Given the description of an element on the screen output the (x, y) to click on. 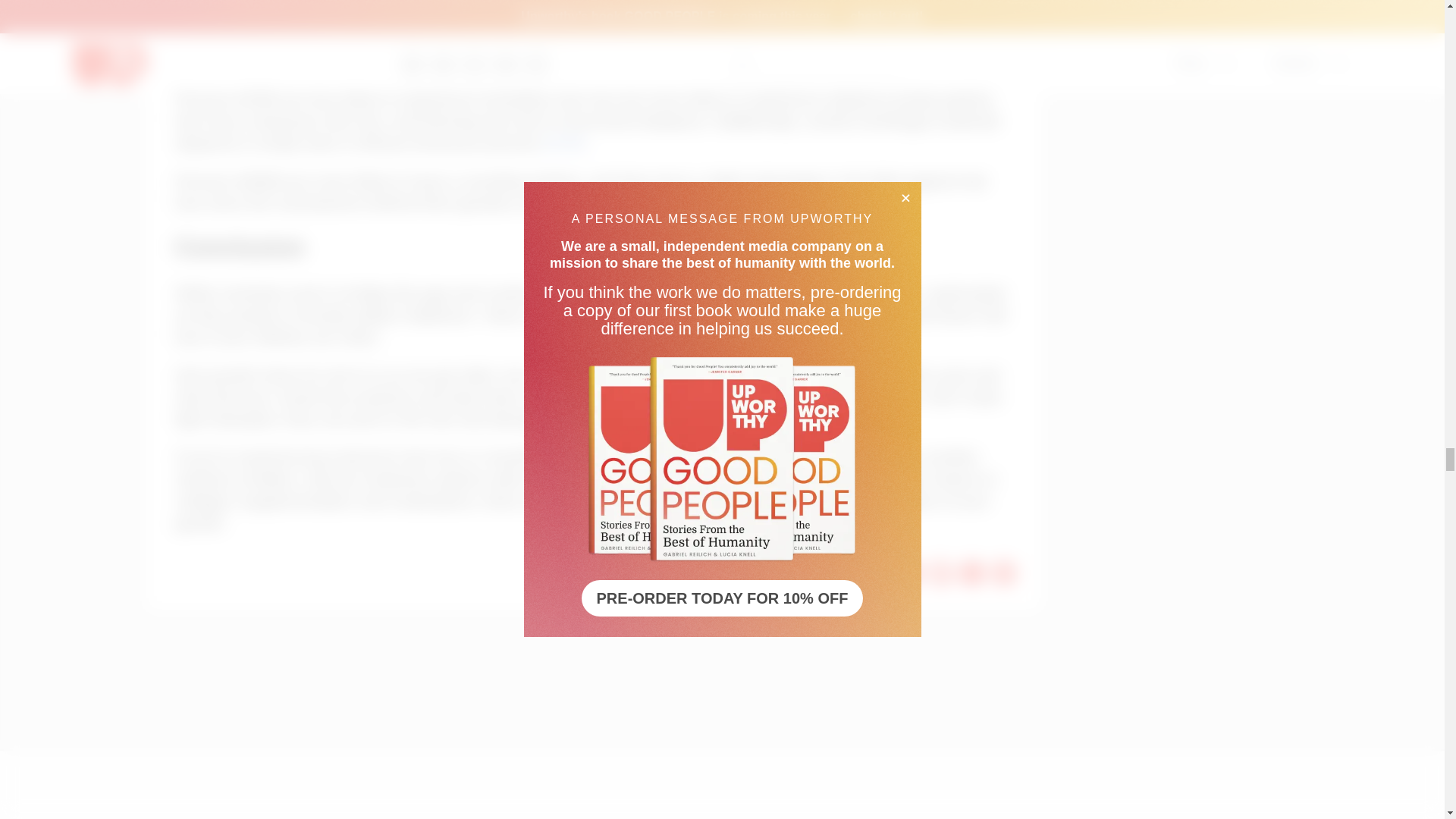
Copy this link to clipboard (1003, 573)
